Given the description of an element on the screen output the (x, y) to click on. 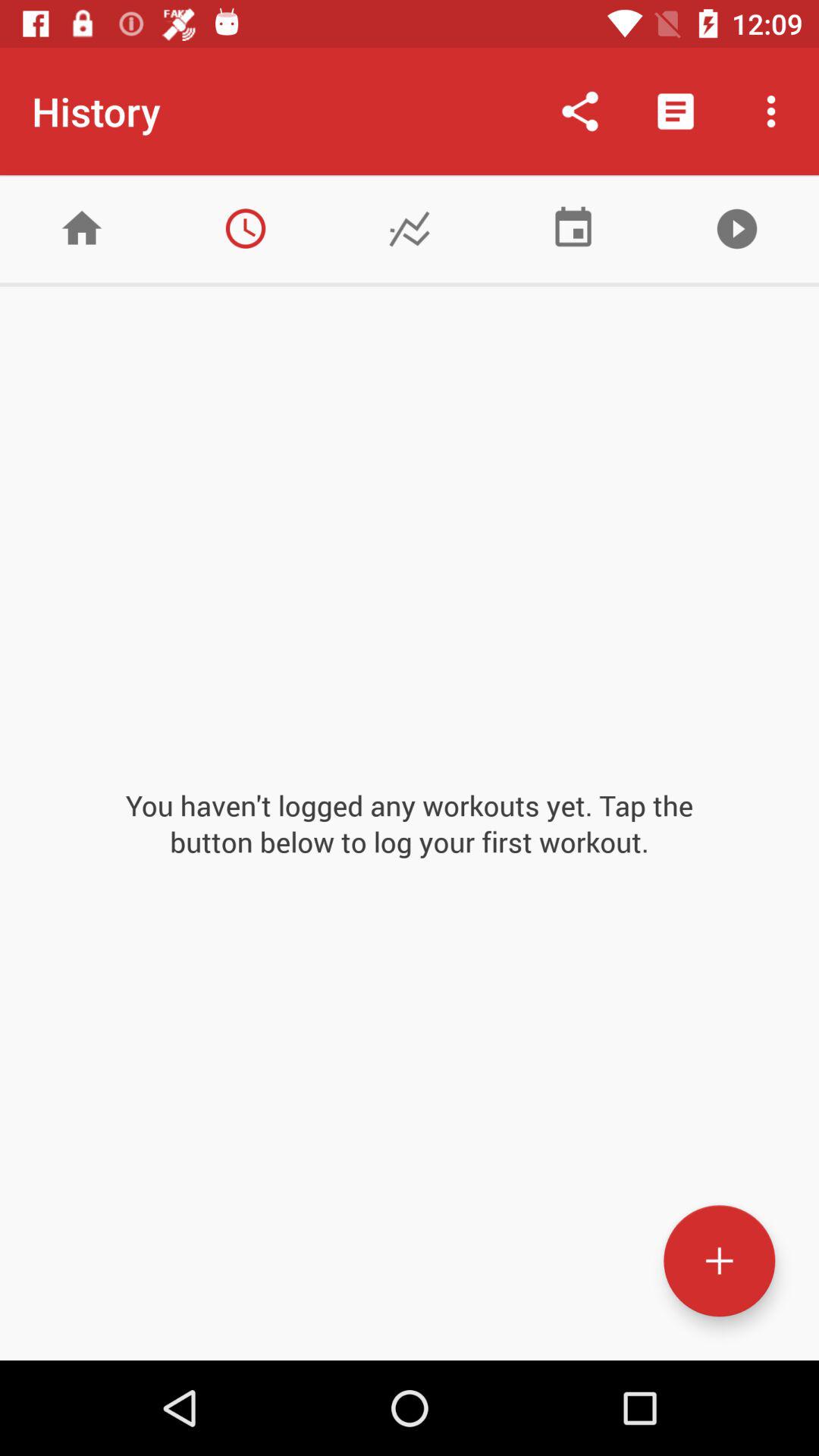
tab is for tracking (409, 228)
